Given the description of an element on the screen output the (x, y) to click on. 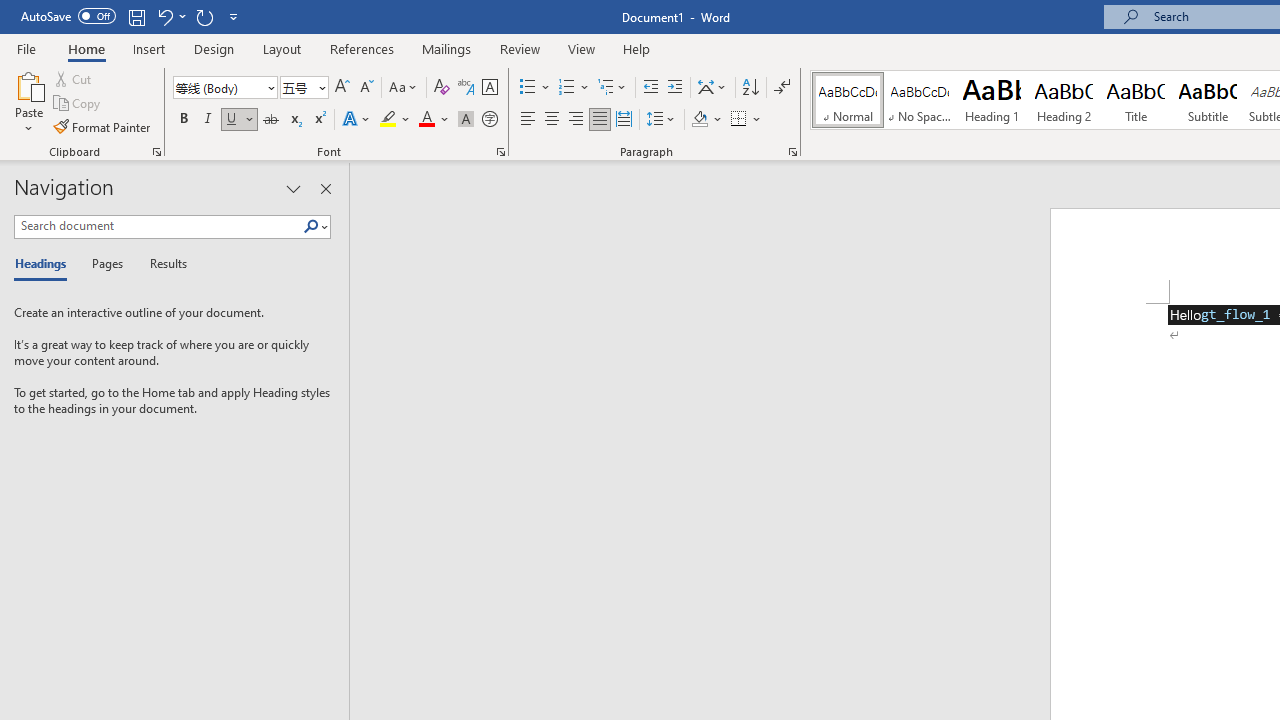
Multilevel List (613, 87)
Text Highlight Color (395, 119)
Pages (105, 264)
Align Right (575, 119)
Center (552, 119)
Title (1135, 100)
Copy (78, 103)
Heading 2 (1063, 100)
Italic (207, 119)
Repeat Underline Style (204, 15)
